Given the description of an element on the screen output the (x, y) to click on. 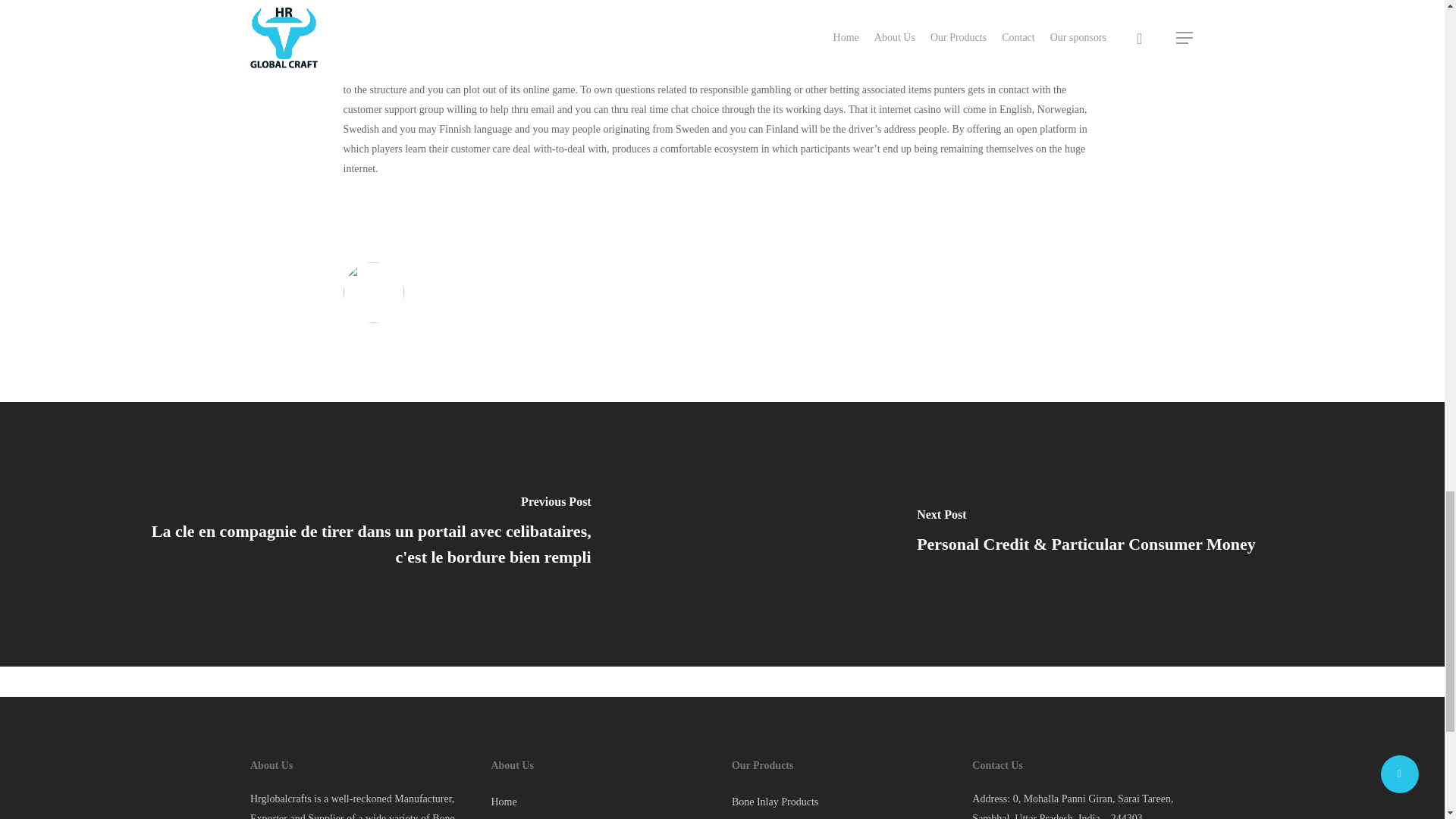
Bone Inlay Products (842, 802)
Home (601, 802)
